Given the description of an element on the screen output the (x, y) to click on. 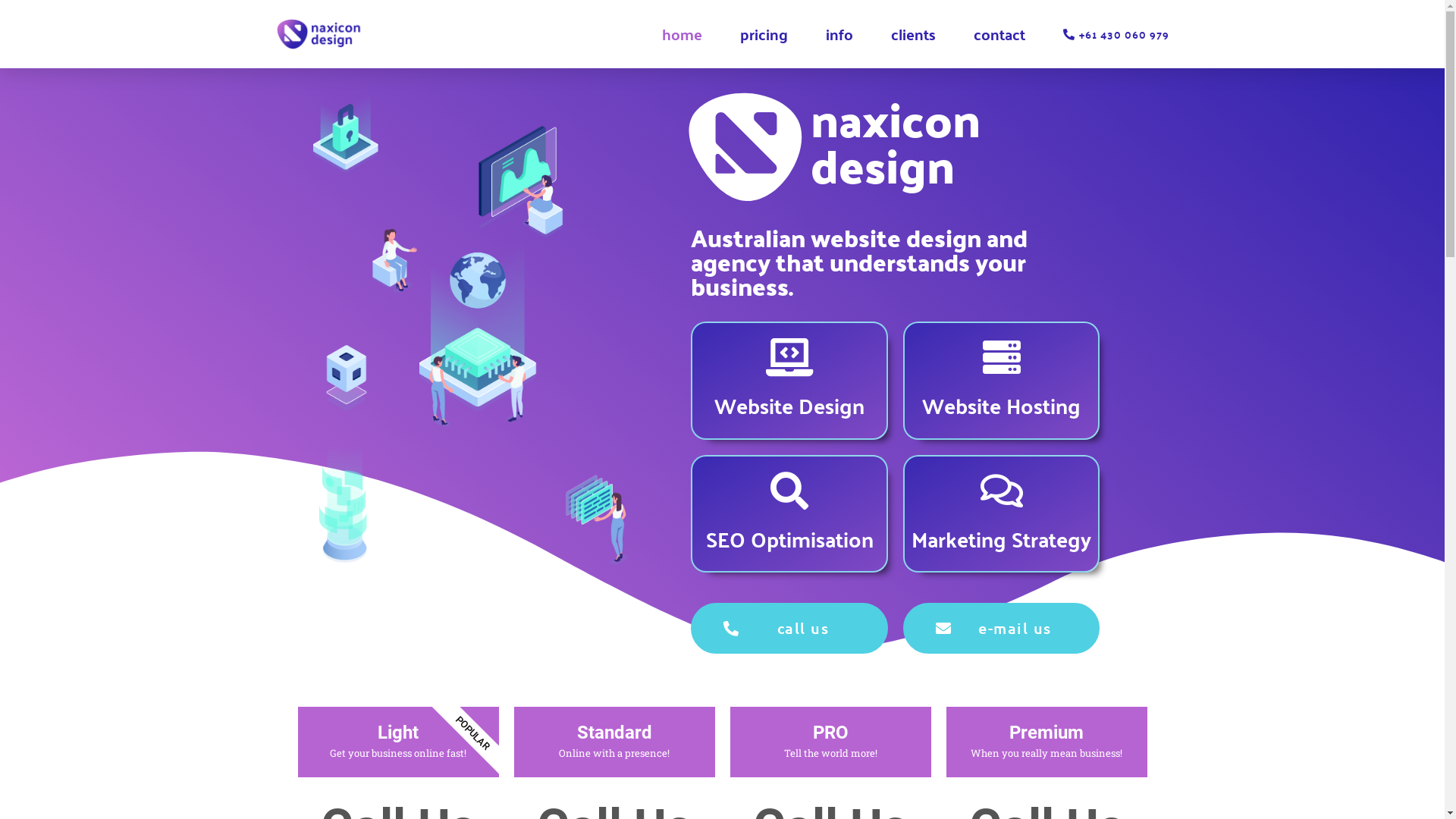
e-mail us Element type: text (1001, 627)
info Element type: text (839, 34)
home Element type: text (682, 34)
contact Element type: text (999, 34)
call us Element type: text (788, 627)
pricing Element type: text (763, 34)
+61 430 060 979 Element type: text (1108, 33)
clients Element type: text (913, 34)
